Given the description of an element on the screen output the (x, y) to click on. 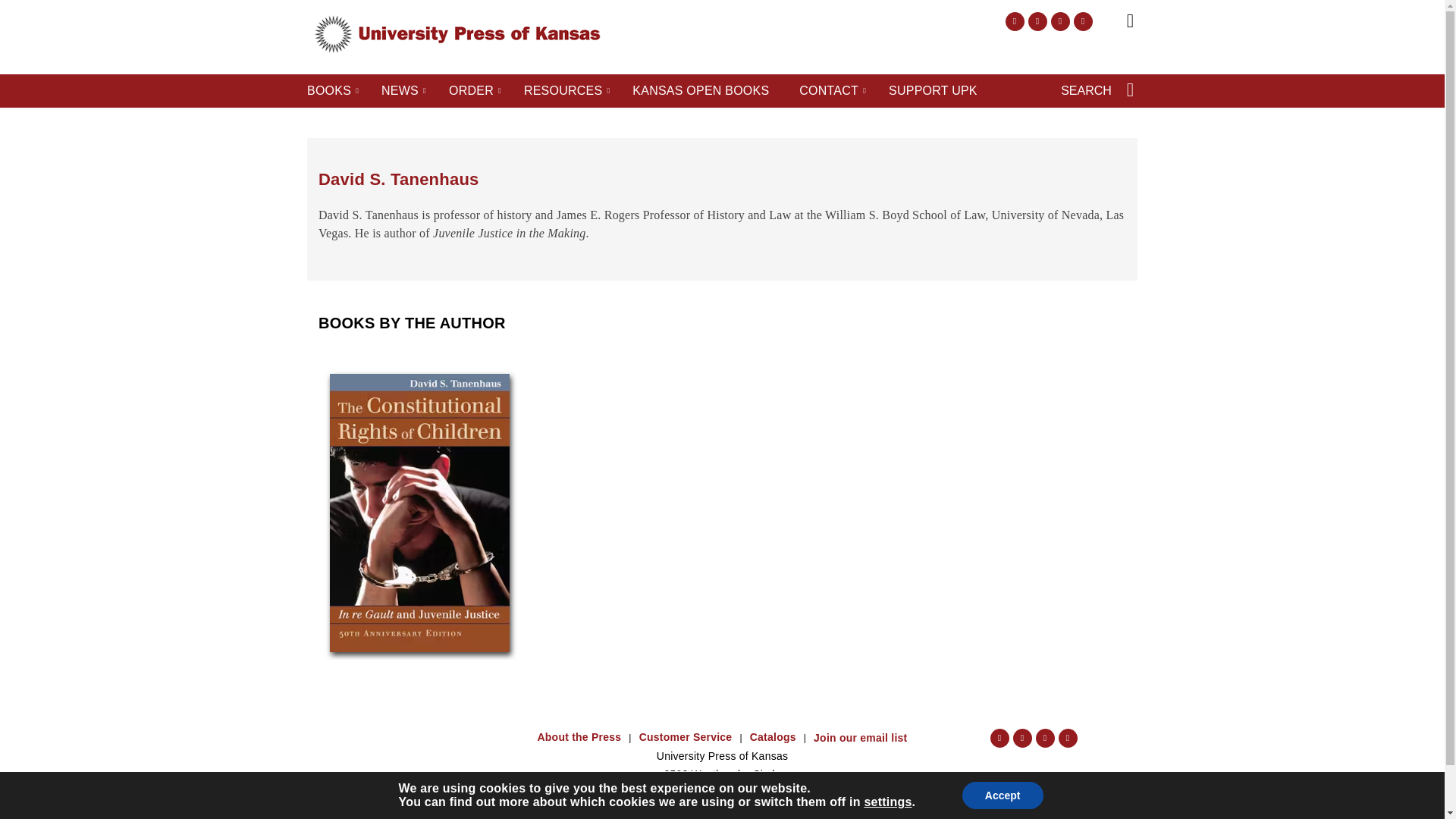
Follow us on YouTube (1083, 21)
NEWS (400, 90)
Follow us on Facebook (1015, 21)
Follow us on Facebook (999, 737)
RESOURCES (563, 90)
BOOKS (328, 90)
Follow us on Instagram (1036, 21)
ORDER (470, 90)
Follow us on YouTube (1067, 737)
Follow us on Instagram (1022, 737)
